Given the description of an element on the screen output the (x, y) to click on. 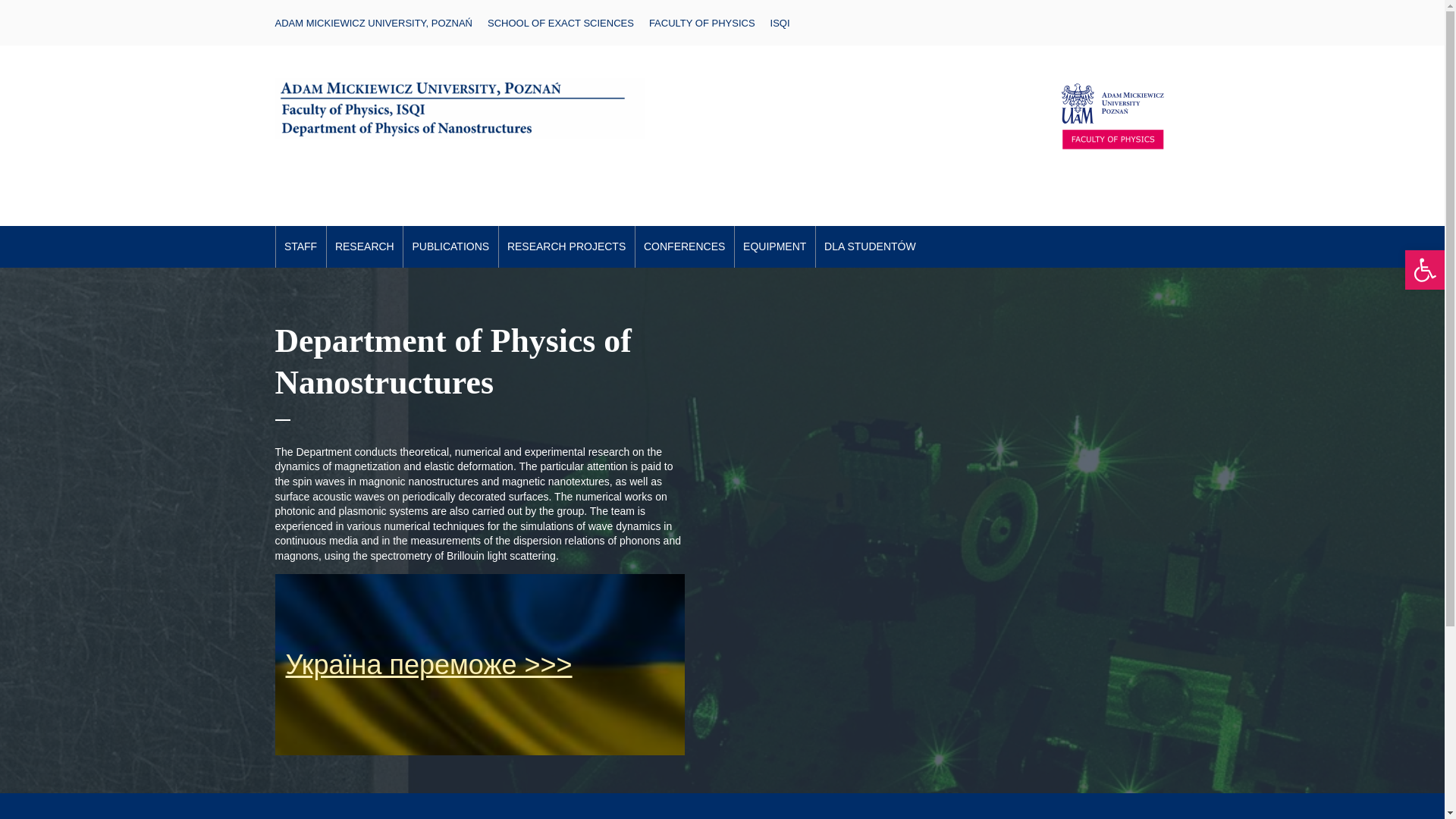
CONFERENCES (683, 246)
RESEARCH (364, 246)
EQUIPMENT (775, 246)
SCHOOL OF EXACT SCIENCES (560, 22)
PUBLICATIONS (450, 246)
FACULTY OF PHYSICS (702, 22)
Accessibility Tools (1424, 269)
RESEARCH PROJECTS (566, 246)
ISQI (780, 22)
STAFF (301, 246)
